Given the description of an element on the screen output the (x, y) to click on. 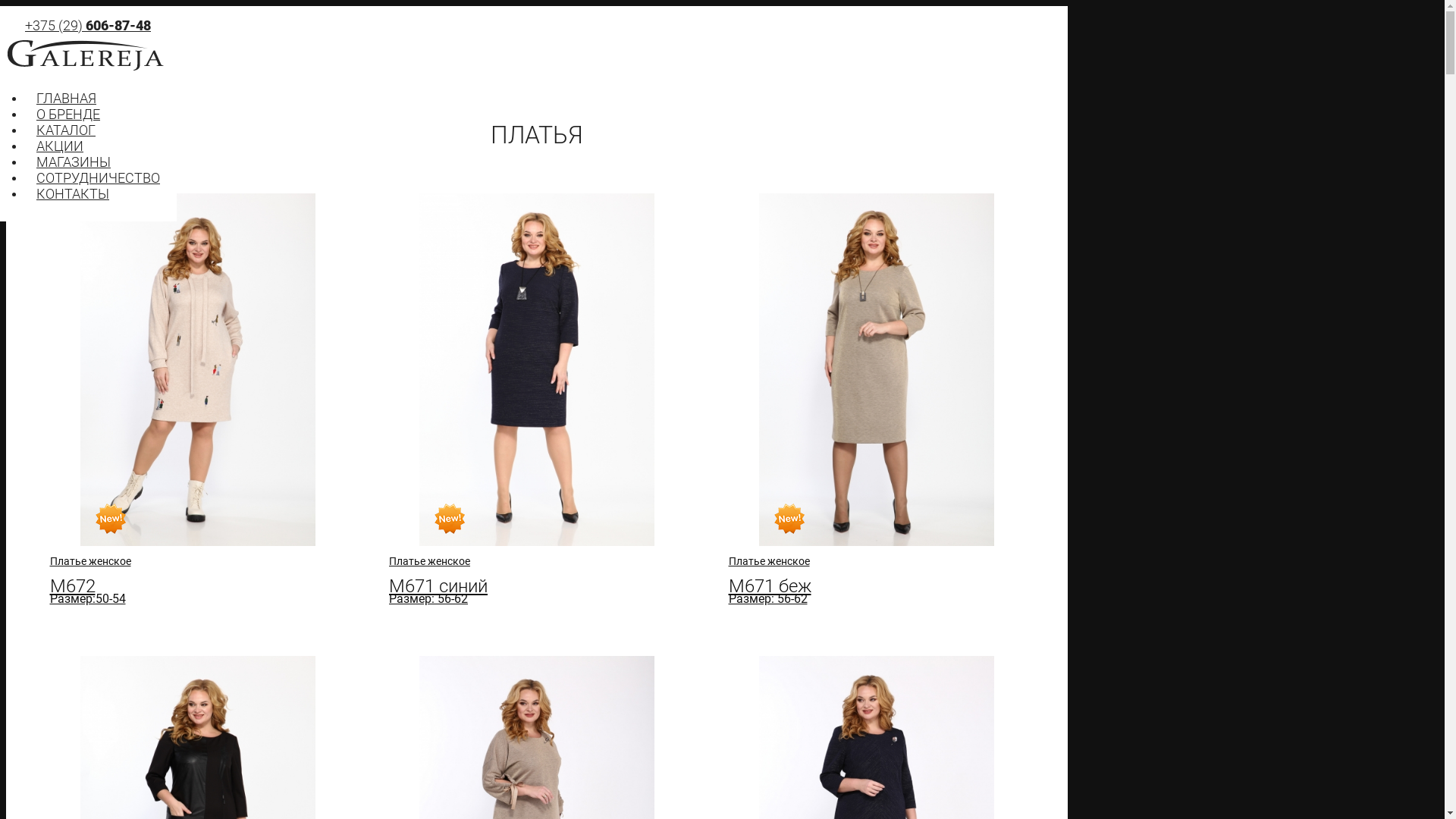
+375 (29) 606-87-48 Element type: text (87, 25)
